Given the description of an element on the screen output the (x, y) to click on. 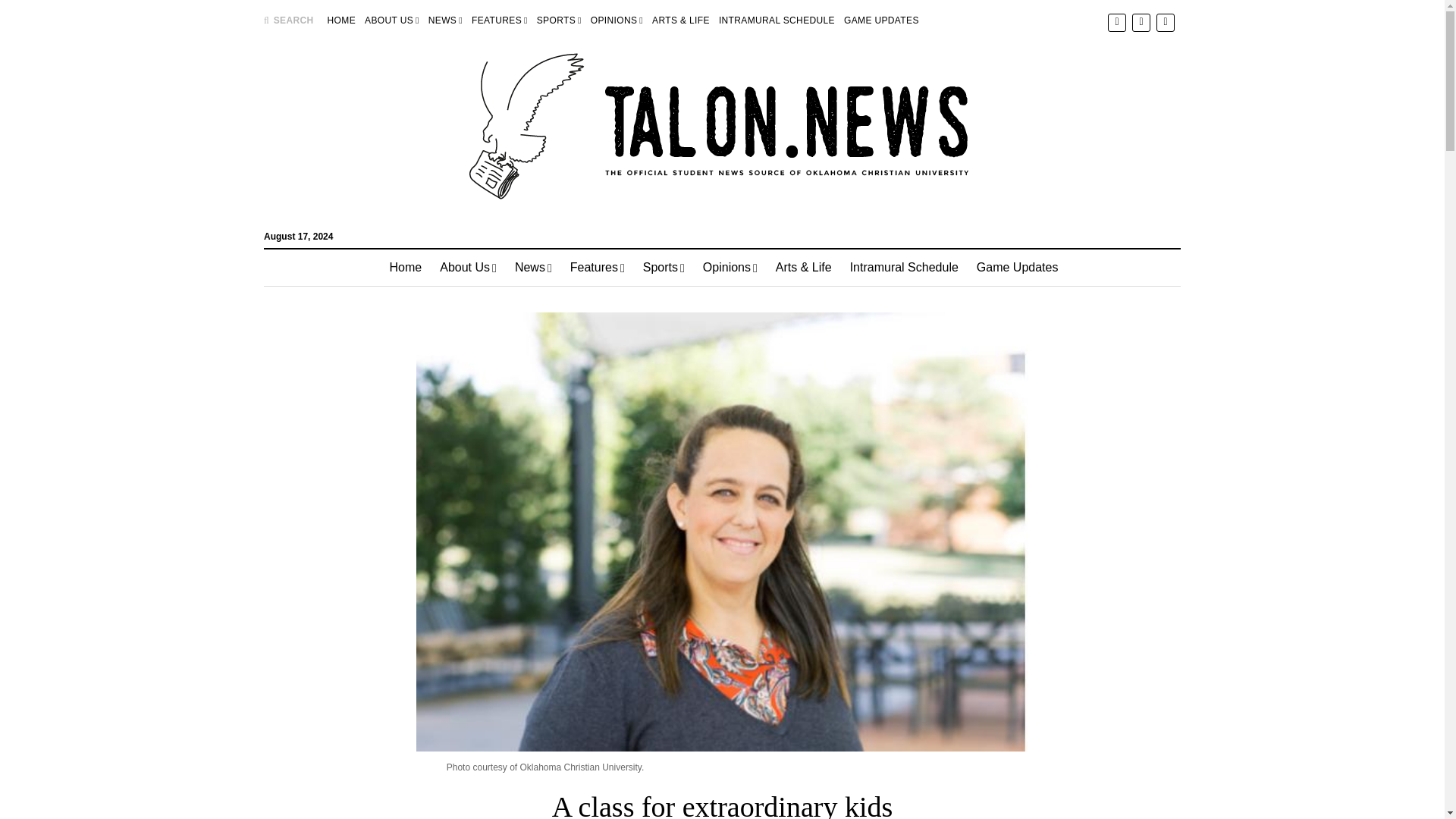
SEARCH (288, 20)
FEATURES (499, 20)
INTRAMURAL SCHEDULE (776, 20)
HOME (341, 20)
Search (945, 129)
GAME UPDATES (881, 20)
NEWS (445, 20)
OPINIONS (617, 20)
ABOUT US (392, 20)
SPORTS (558, 20)
